Given the description of an element on the screen output the (x, y) to click on. 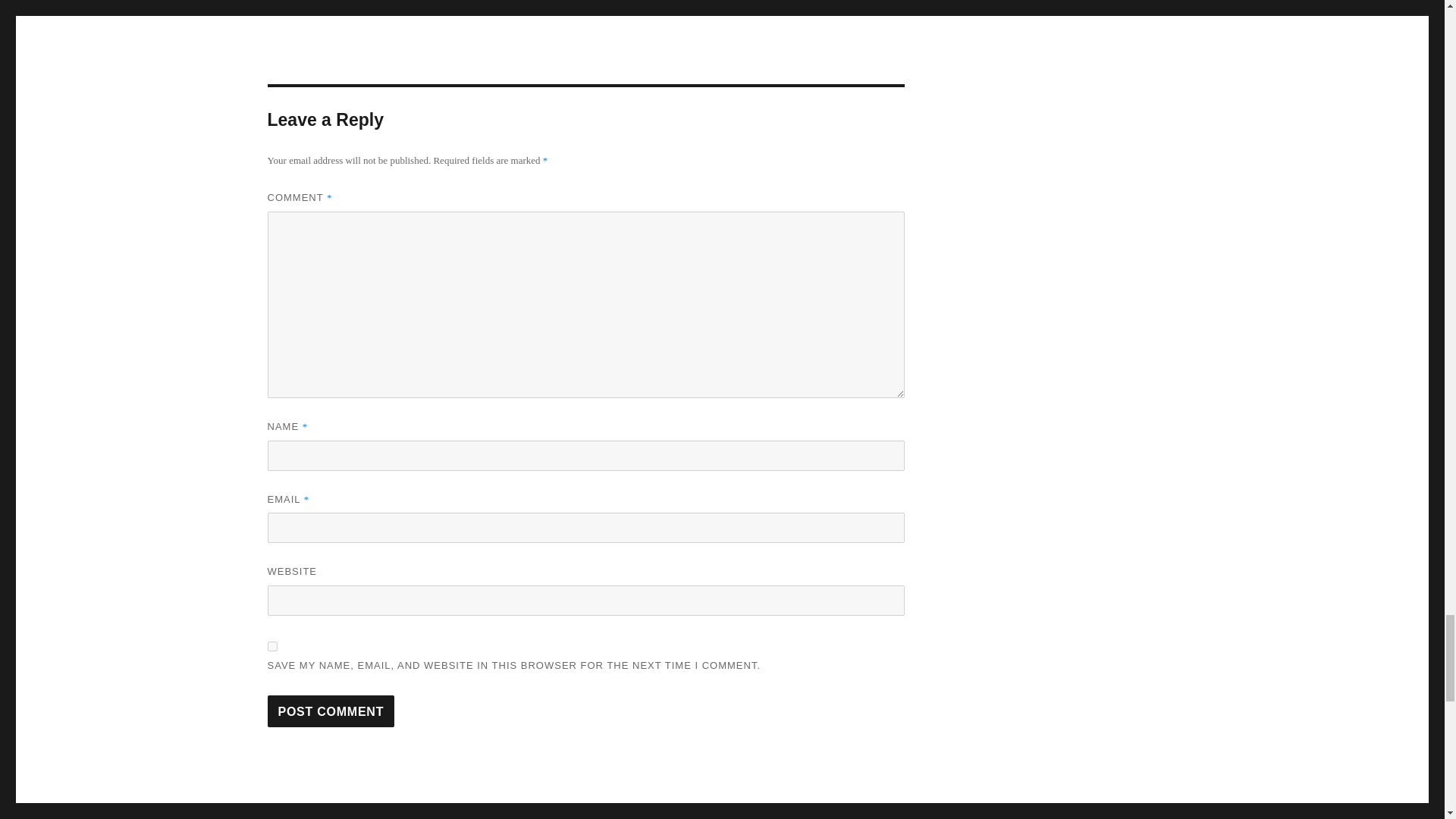
yes (271, 646)
Post Comment (330, 711)
